Given the description of an element on the screen output the (x, y) to click on. 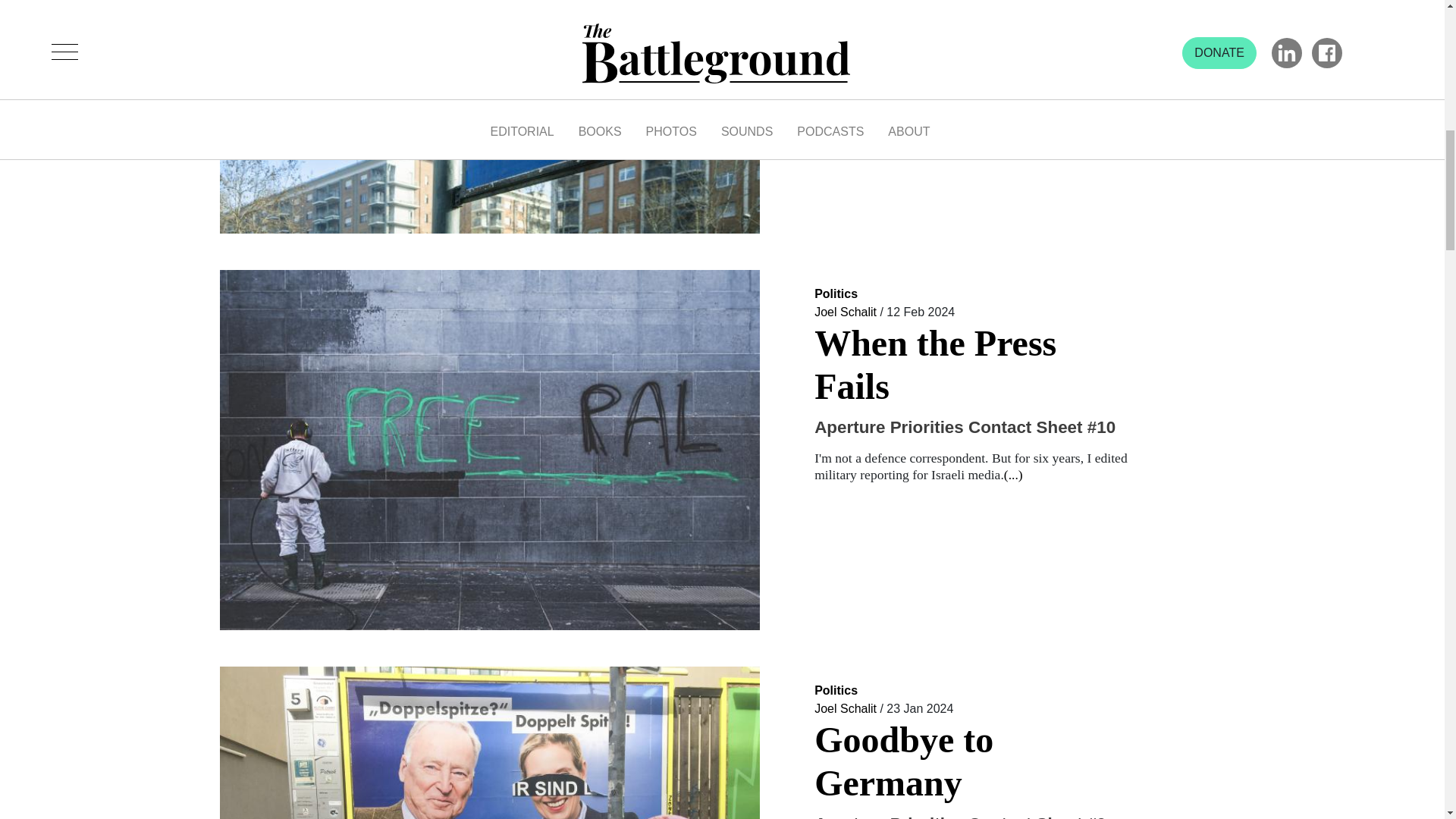
Joel Schalit (844, 311)
Learning From a Pro (972, 6)
When the Press Fails (972, 364)
Politics (835, 305)
Politics (835, 702)
Joel Schalit (844, 707)
